Given the description of an element on the screen output the (x, y) to click on. 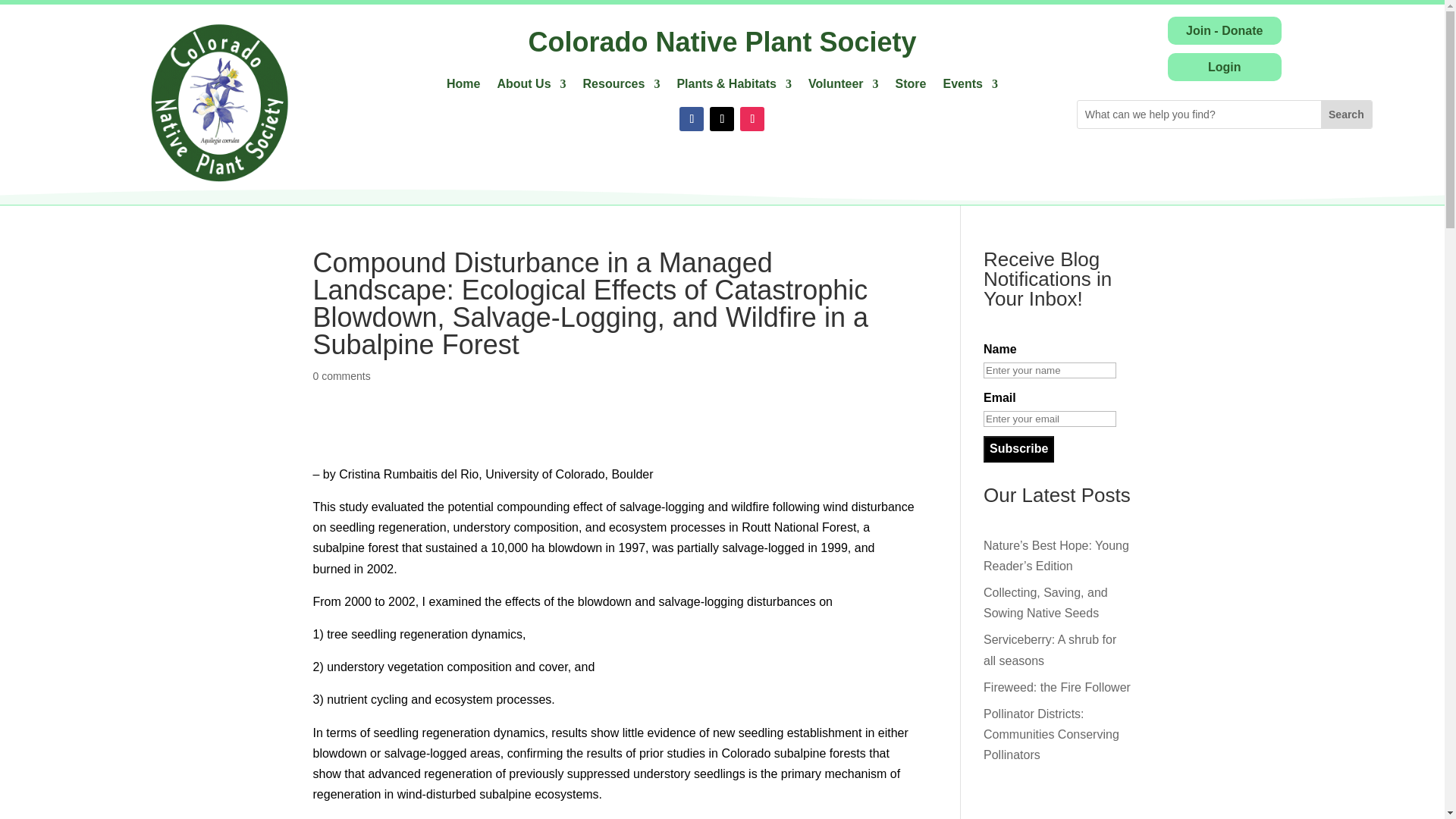
Home (463, 86)
Search (1345, 113)
Follow on Facebook (691, 119)
Resources (622, 86)
Follow on X (721, 119)
Subscribe (1019, 448)
conps logo (219, 101)
Follow on Instagram (751, 119)
Search (1345, 113)
About Us (531, 86)
